Given the description of an element on the screen output the (x, y) to click on. 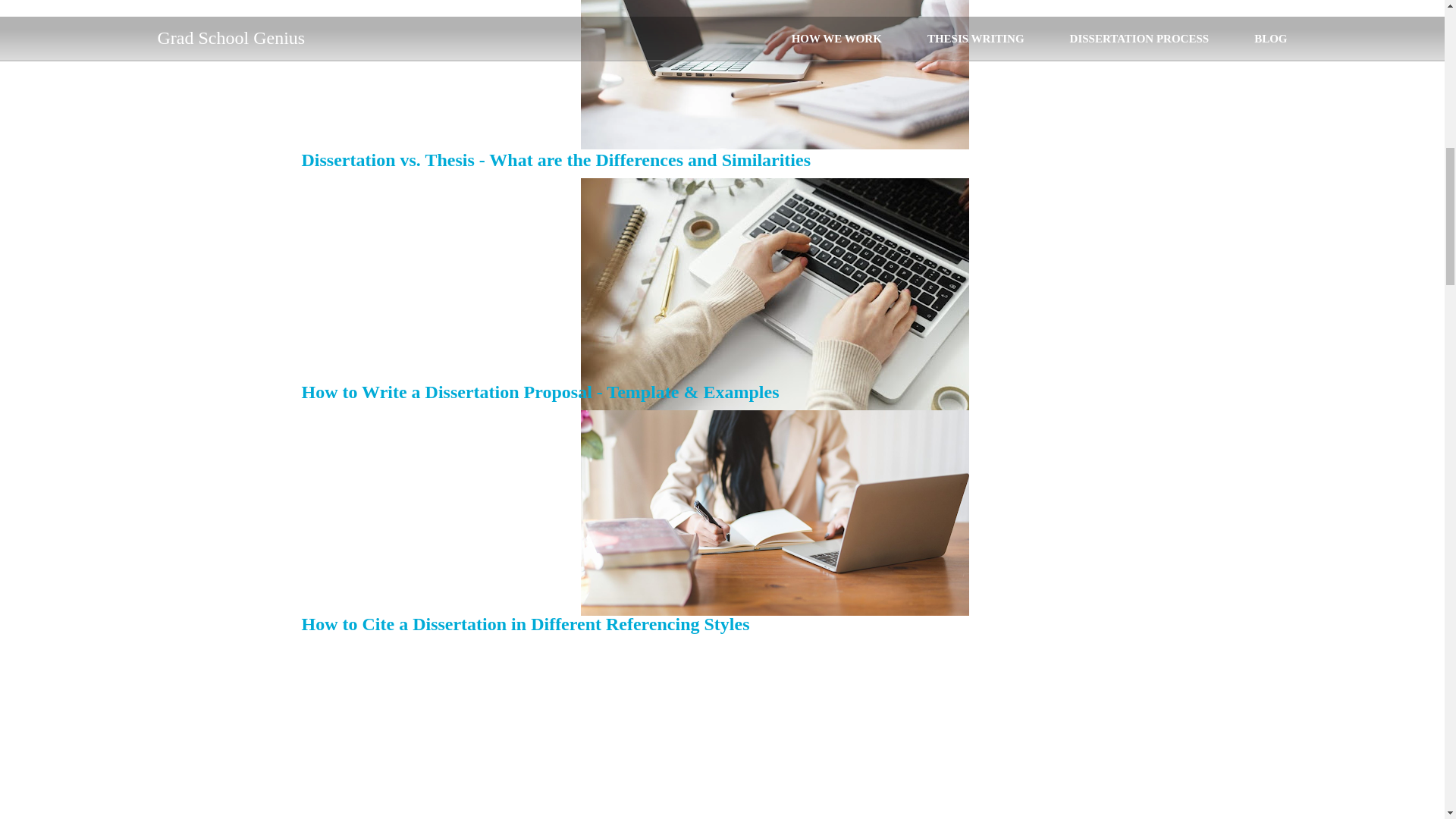
How to Cite a Dissertation in Different Referencing Styles (525, 623)
